Given the description of an element on the screen output the (x, y) to click on. 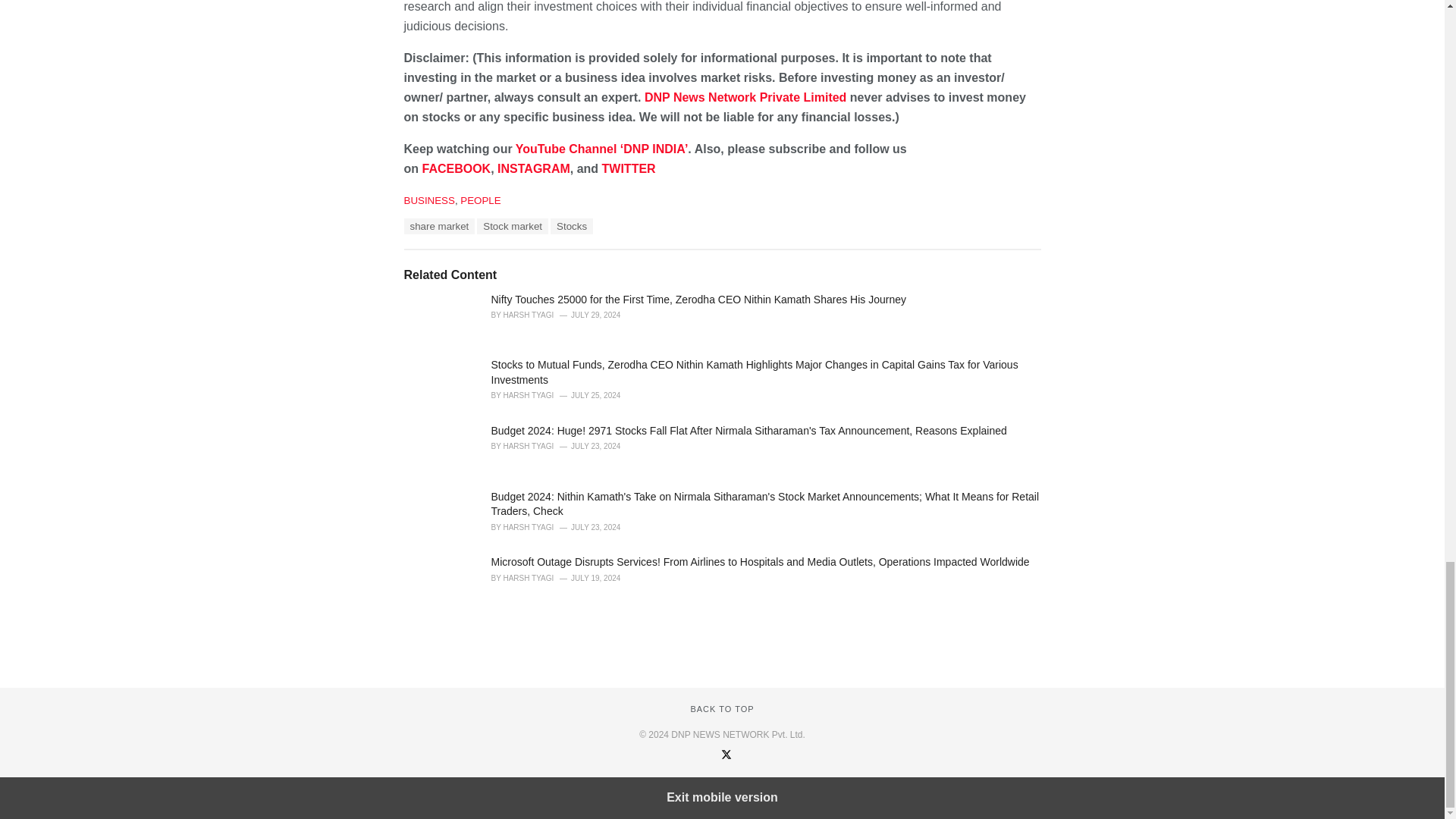
BUSINESS (428, 242)
FACEBOOK (456, 210)
Stock market (512, 268)
BACK TO TOP (722, 750)
DNP News Network Private Limited (745, 138)
enticing investment prospect (497, 28)
TWITTER (629, 210)
Stocks (571, 268)
